Given the description of an element on the screen output the (x, y) to click on. 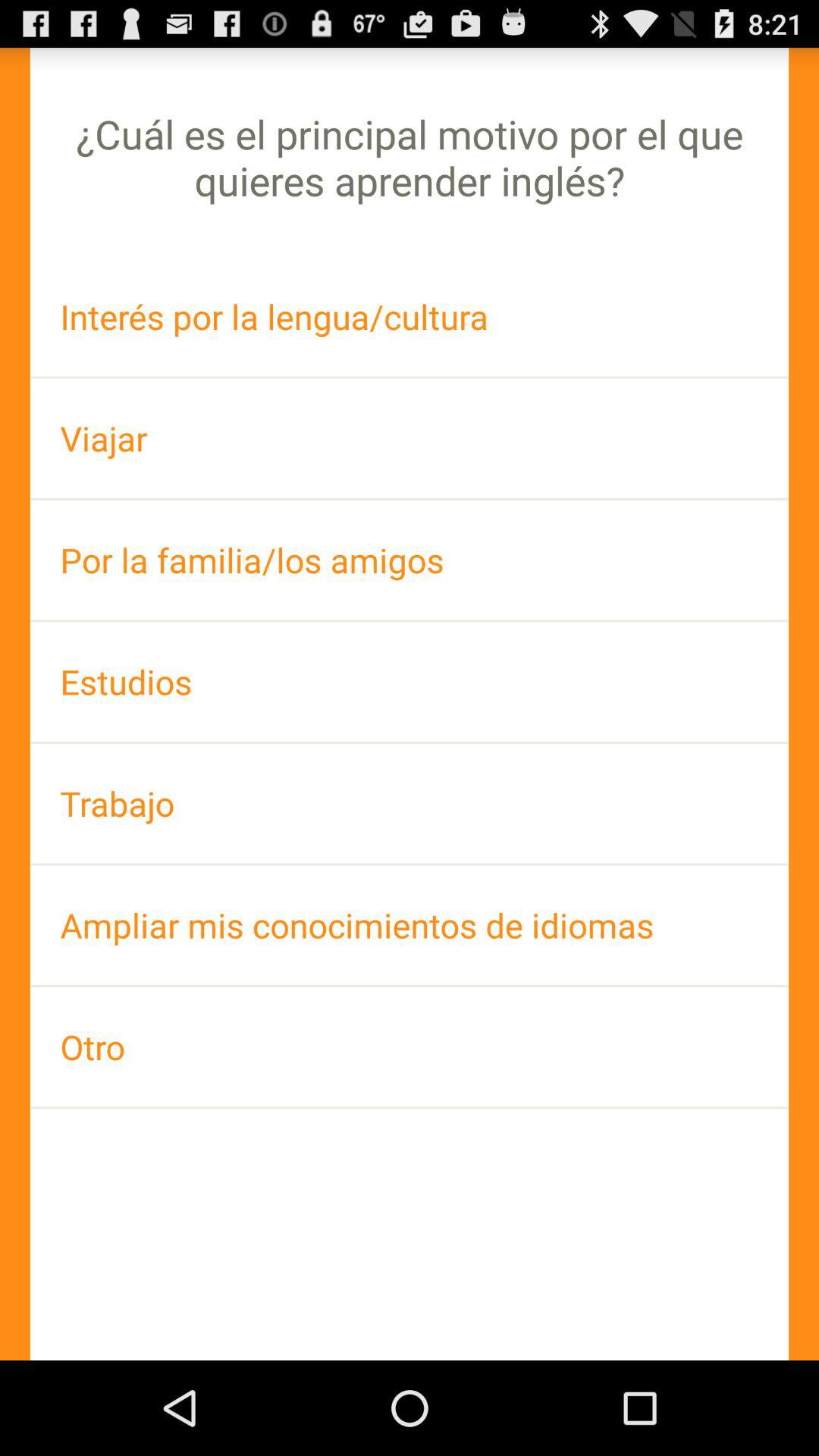
click app below the ampliar mis conocimientos app (409, 1046)
